Given the description of an element on the screen output the (x, y) to click on. 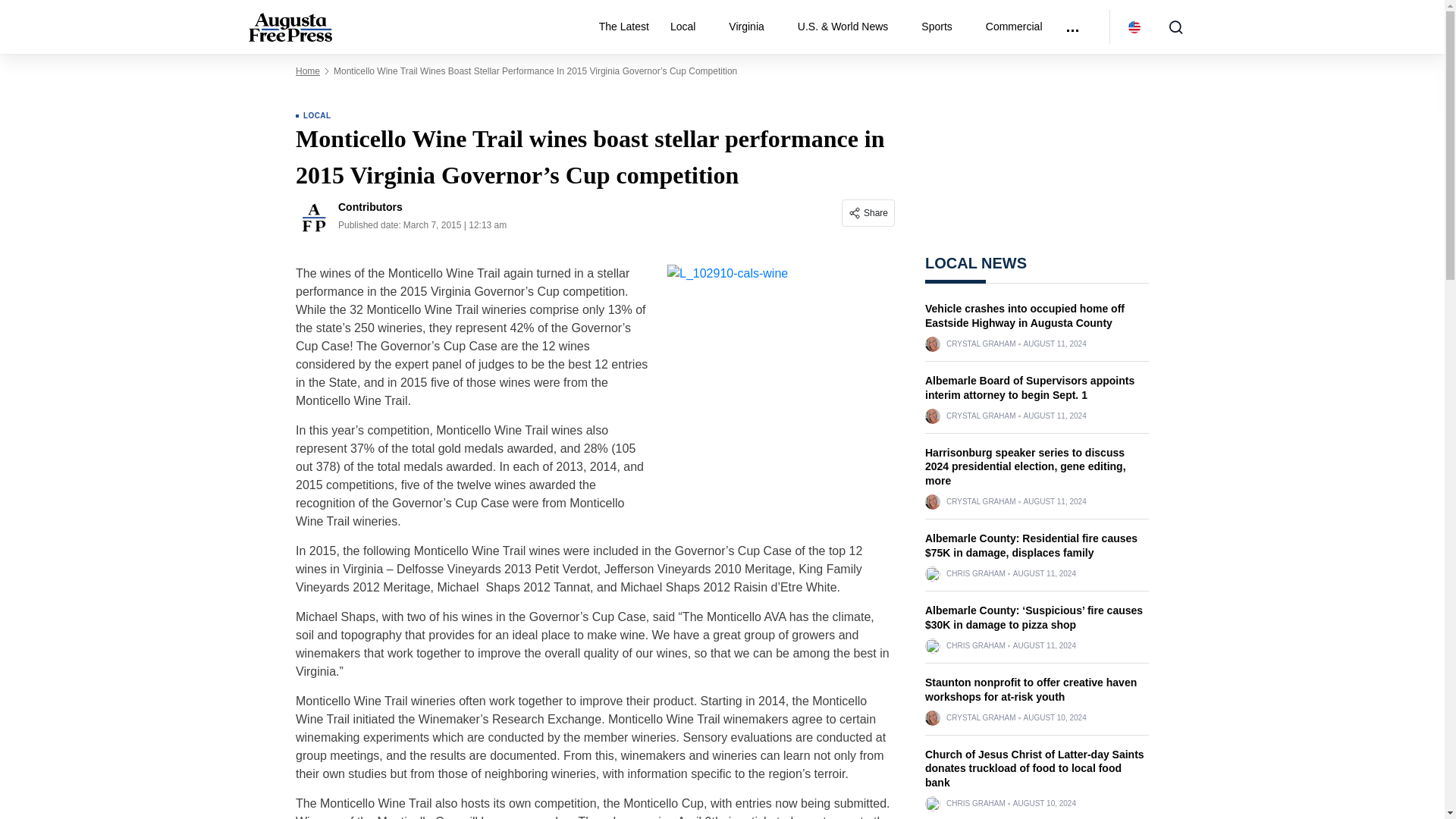
Virginia (751, 27)
Commercial (1013, 27)
The Latest (623, 27)
Local (688, 27)
Sports (942, 27)
